Given the description of an element on the screen output the (x, y) to click on. 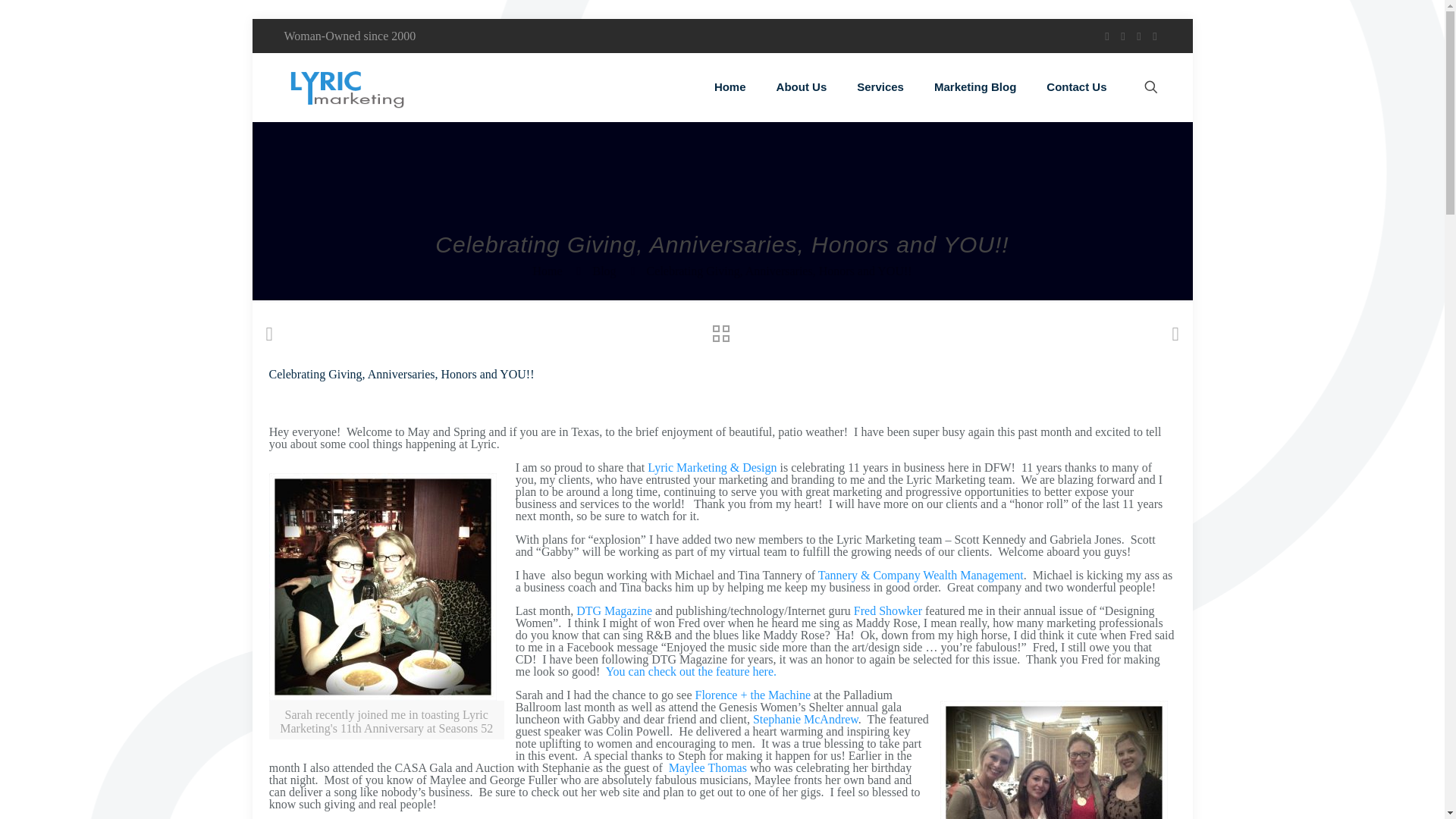
Contact Us (1075, 87)
Home (547, 270)
Marketing Blog (974, 87)
DTG Magazine (614, 610)
Fred Showker on LinkedIn (887, 610)
Facebook (1106, 36)
Home (729, 87)
LYRICMarketing (345, 87)
Fred Showker (887, 610)
Sandy Hibbard Designing Women (689, 671)
